Given the description of an element on the screen output the (x, y) to click on. 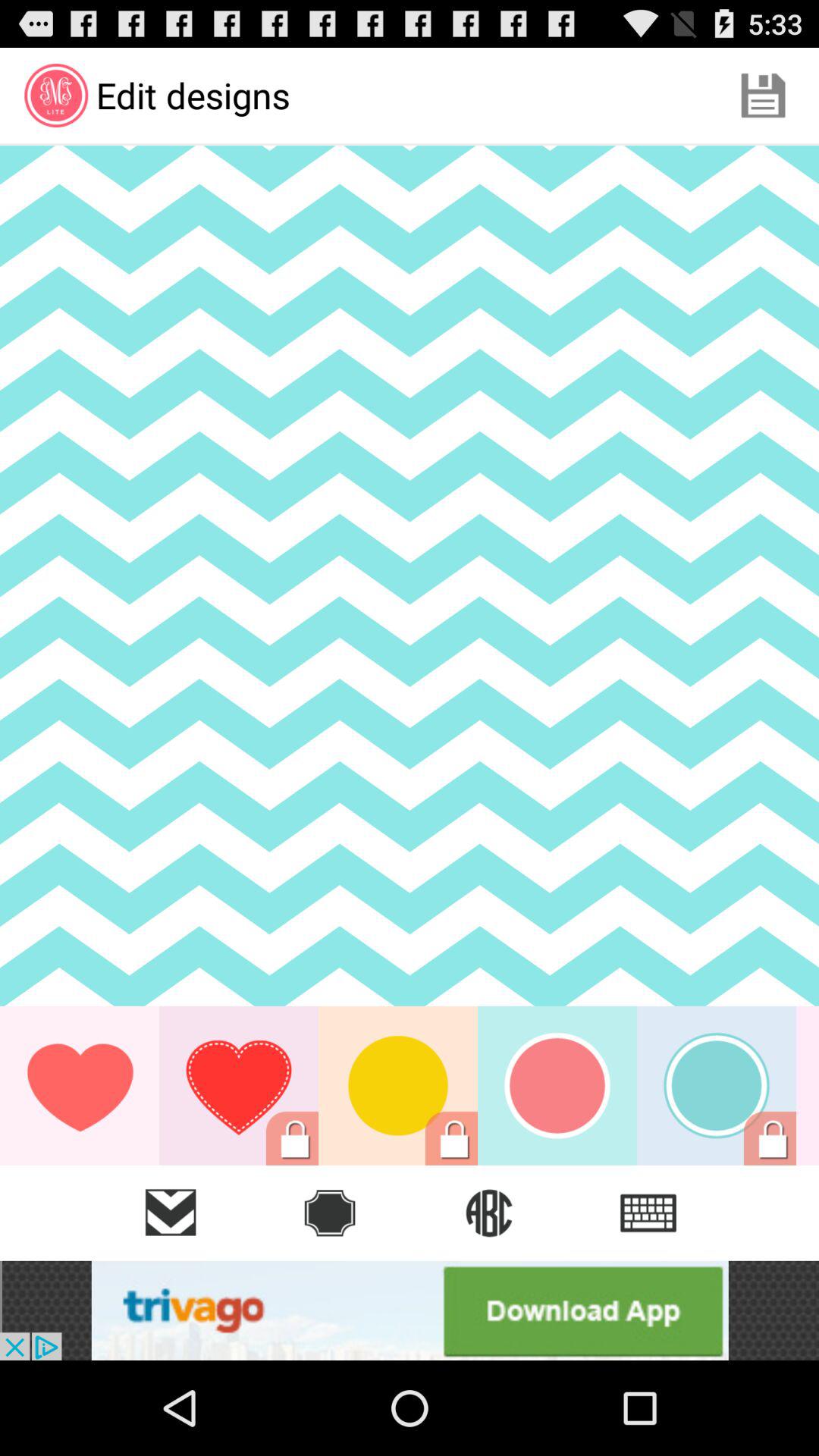
click on the first  icon in second line (56, 95)
choose the logo left to edit designs (55, 95)
the symbol beside heart shape with dots (397, 1086)
select the second symbol which is left to the abc symbol (329, 1213)
